Given the description of an element on the screen output the (x, y) to click on. 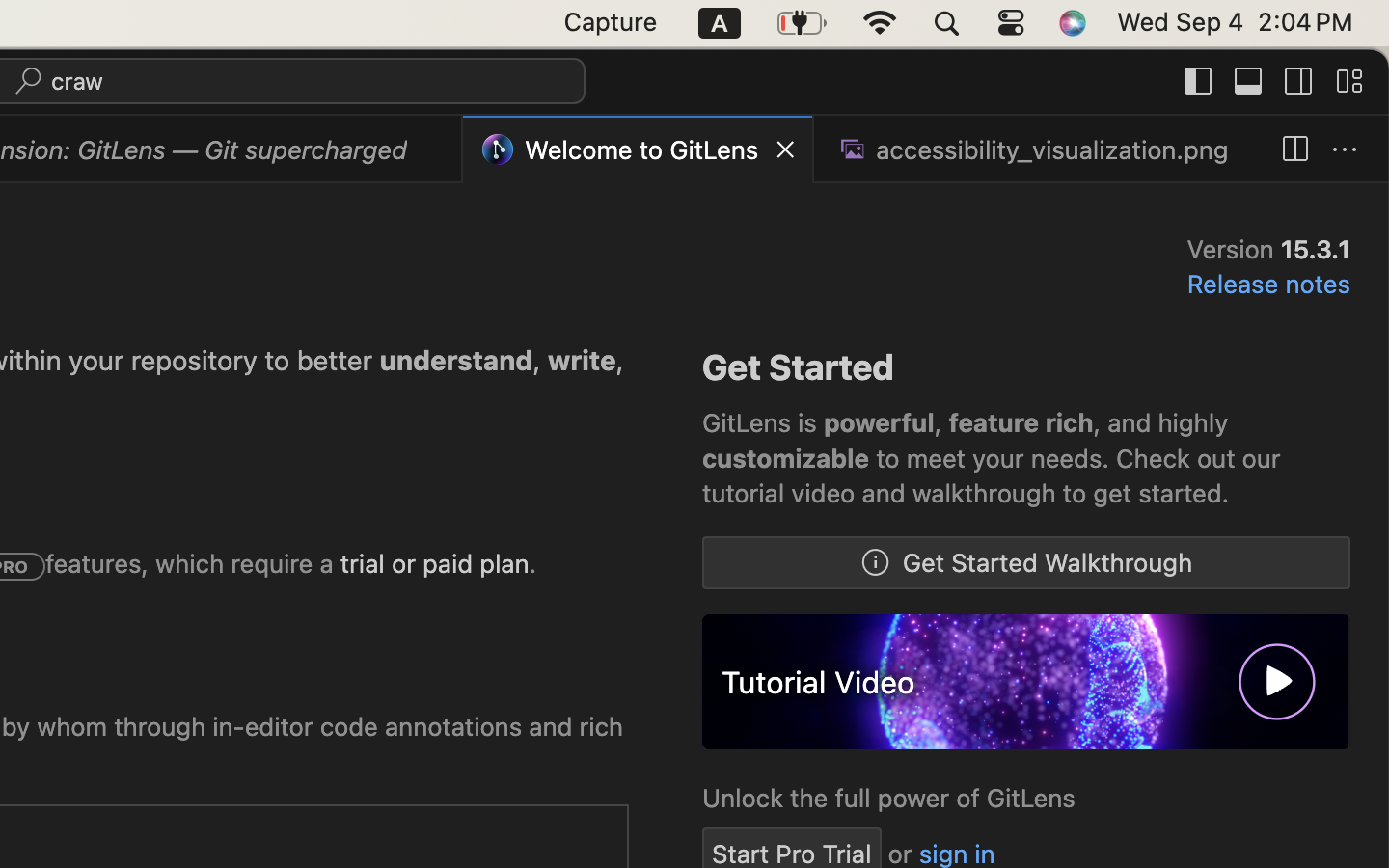
Release notes Element type: AXStaticText (1268, 284)
features, which require a Element type: AXStaticText (193, 563)
understand Element type: AXStaticText (457, 360)
craw Element type: AXStaticText (78, 80)
 Element type: AXStaticText (875, 562)
